Given the description of an element on the screen output the (x, y) to click on. 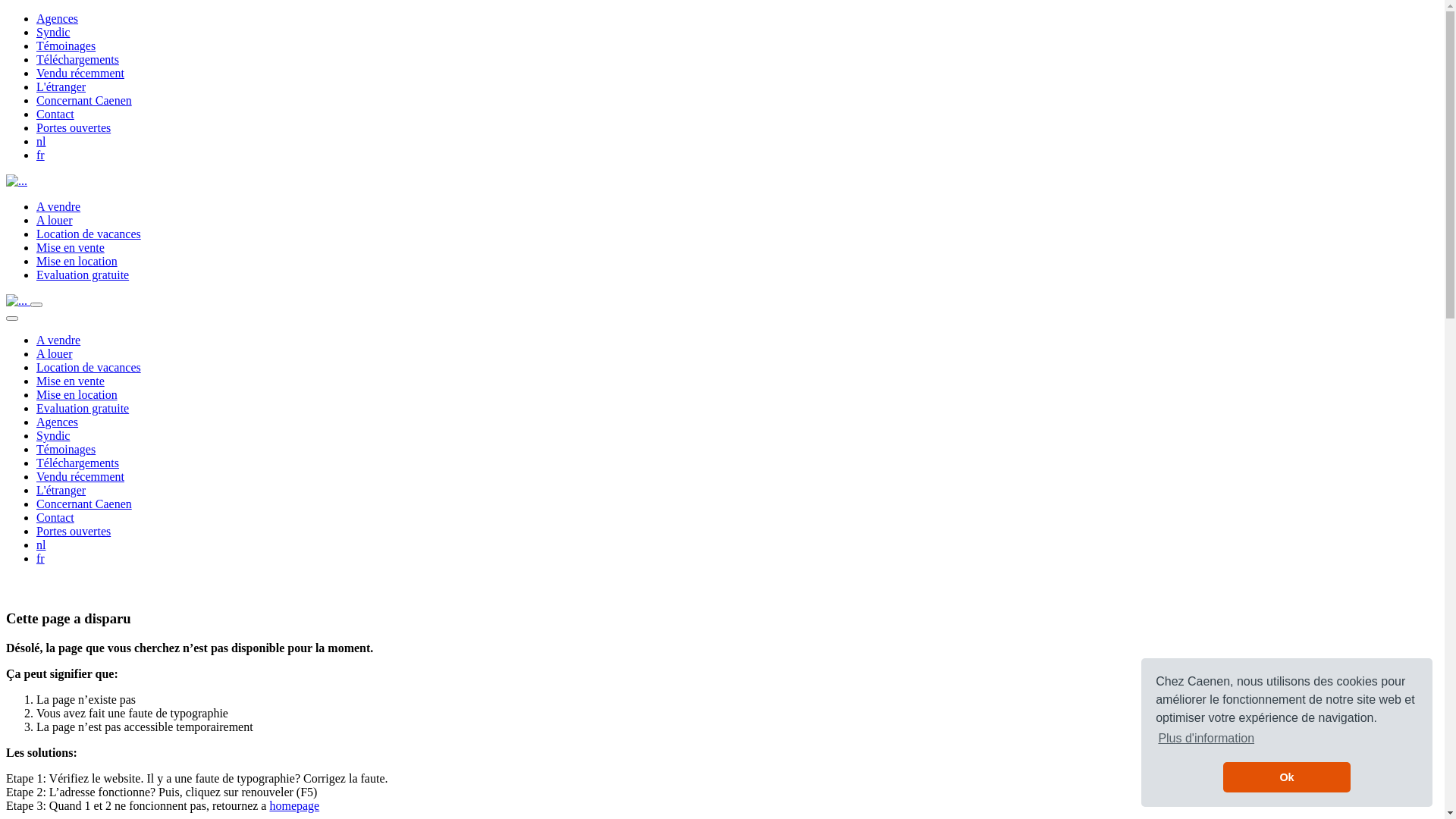
Syndic Element type: text (52, 435)
Evaluation gratuite Element type: text (82, 274)
homepage Element type: text (294, 805)
Evaluation gratuite Element type: text (82, 407)
fr Element type: text (40, 154)
Mise en location Element type: text (76, 260)
Syndic Element type: text (52, 31)
Contact Element type: text (55, 113)
A louer Element type: text (54, 219)
Agences Element type: text (57, 18)
Portes ouvertes Element type: text (73, 530)
Concernant Caenen Element type: text (83, 100)
nl Element type: text (40, 140)
Plus d'information Element type: text (1205, 738)
Location de vacances Element type: text (88, 366)
fr Element type: text (40, 558)
Mise en location Element type: text (76, 394)
A vendre Element type: text (58, 339)
Mise en vente Element type: text (70, 247)
Mise en vente Element type: text (70, 380)
A louer Element type: text (54, 353)
Agences Element type: text (57, 421)
Portes ouvertes Element type: text (73, 127)
Concernant Caenen Element type: text (83, 503)
nl Element type: text (40, 544)
Location de vacances Element type: text (88, 233)
Ok Element type: text (1286, 777)
A vendre Element type: text (58, 206)
Contact Element type: text (55, 517)
